Given the description of an element on the screen output the (x, y) to click on. 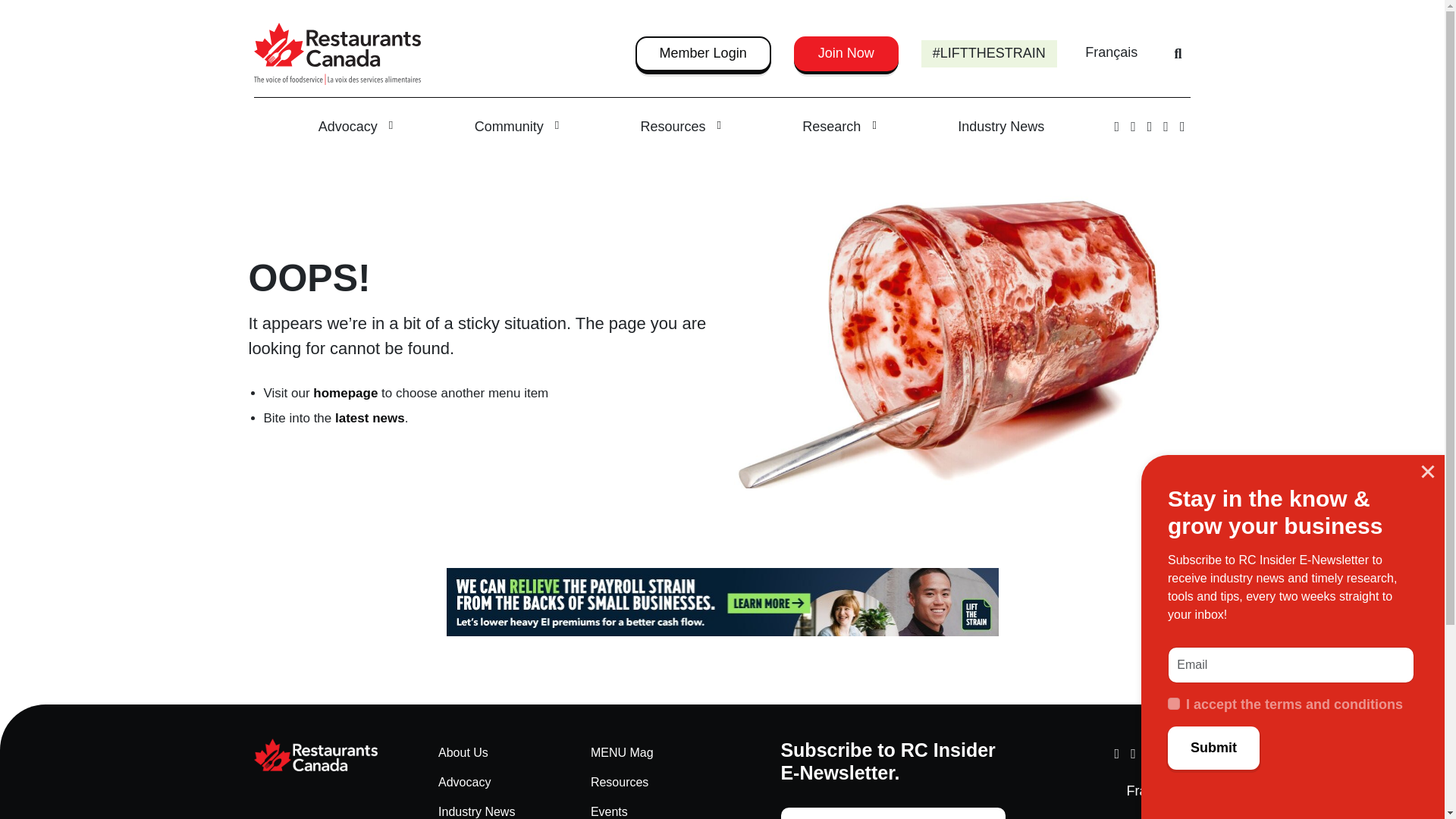
Join Now (846, 53)
Search (1178, 53)
Community (516, 127)
Resources (680, 127)
Research (839, 127)
Restaurants Canada (326, 754)
Submit (1213, 747)
1 (1173, 703)
Industry News (1000, 127)
Member Login (702, 53)
